Given the description of an element on the screen output the (x, y) to click on. 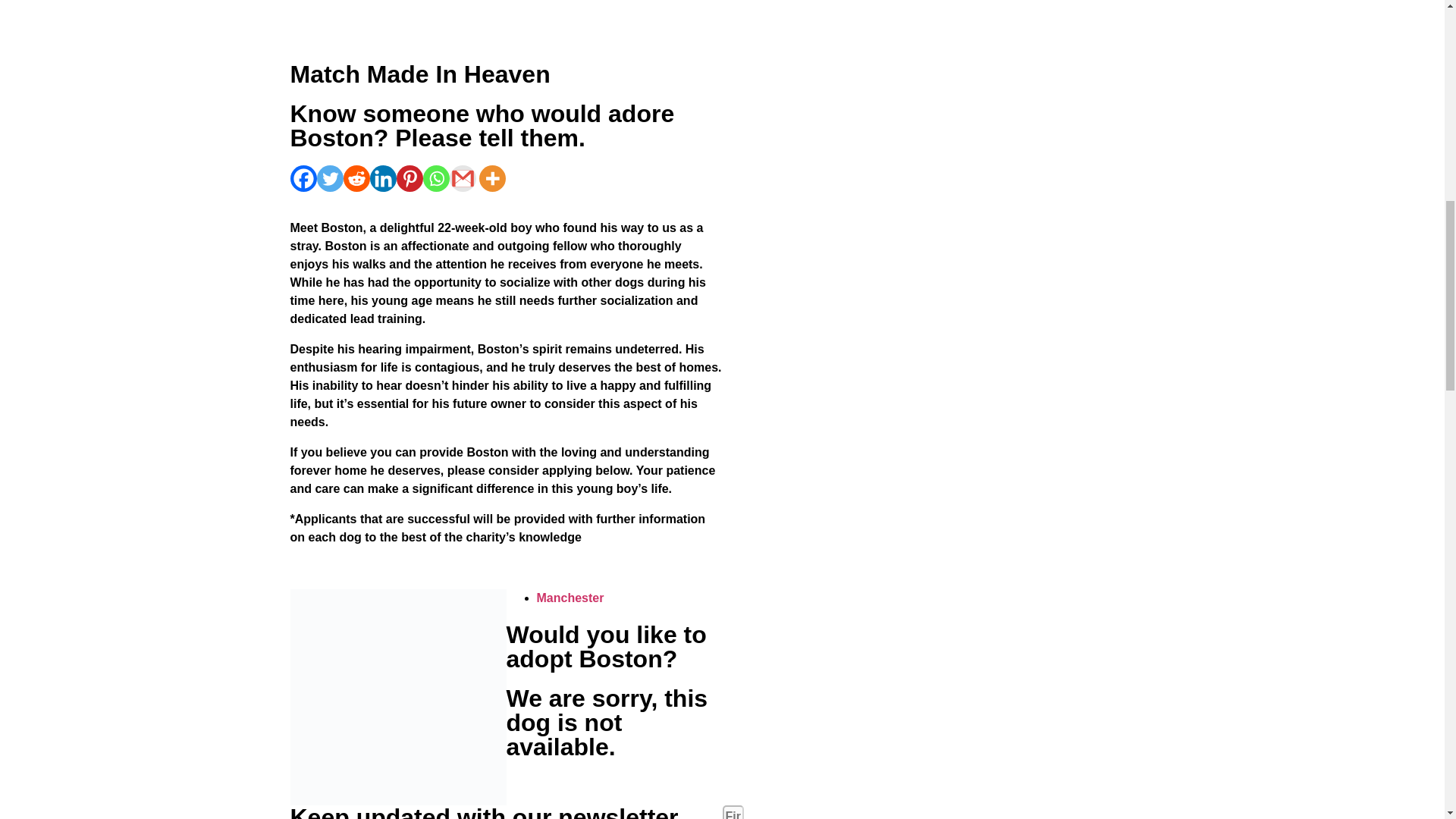
Pinterest (409, 178)
Linkedin (382, 178)
Facebook (302, 178)
Reddit (355, 178)
More (492, 178)
Twitter (330, 178)
Whatsapp (436, 178)
Google Gmail (462, 178)
